Given the description of an element on the screen output the (x, y) to click on. 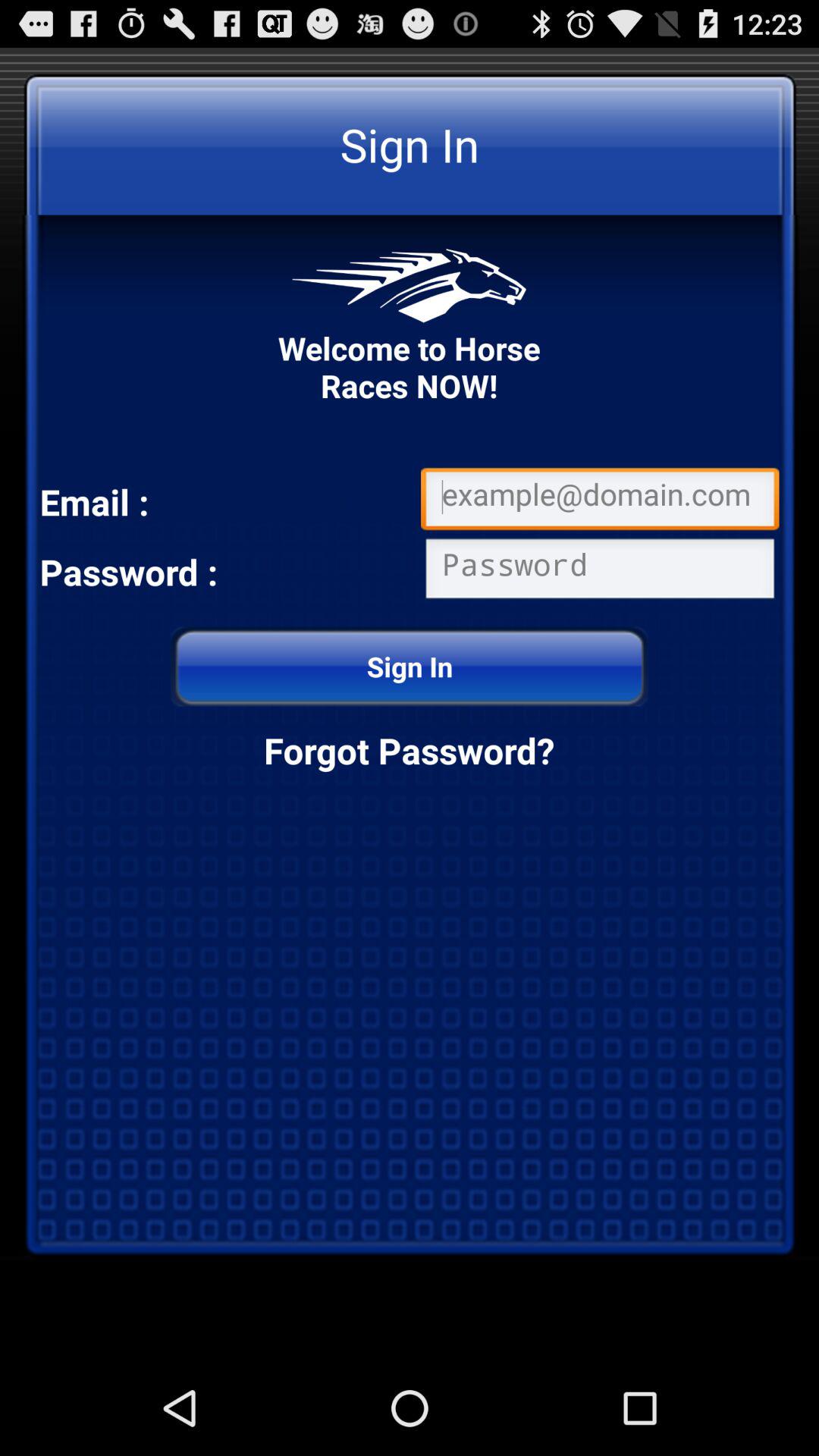
typeing (599, 571)
